Given the description of an element on the screen output the (x, y) to click on. 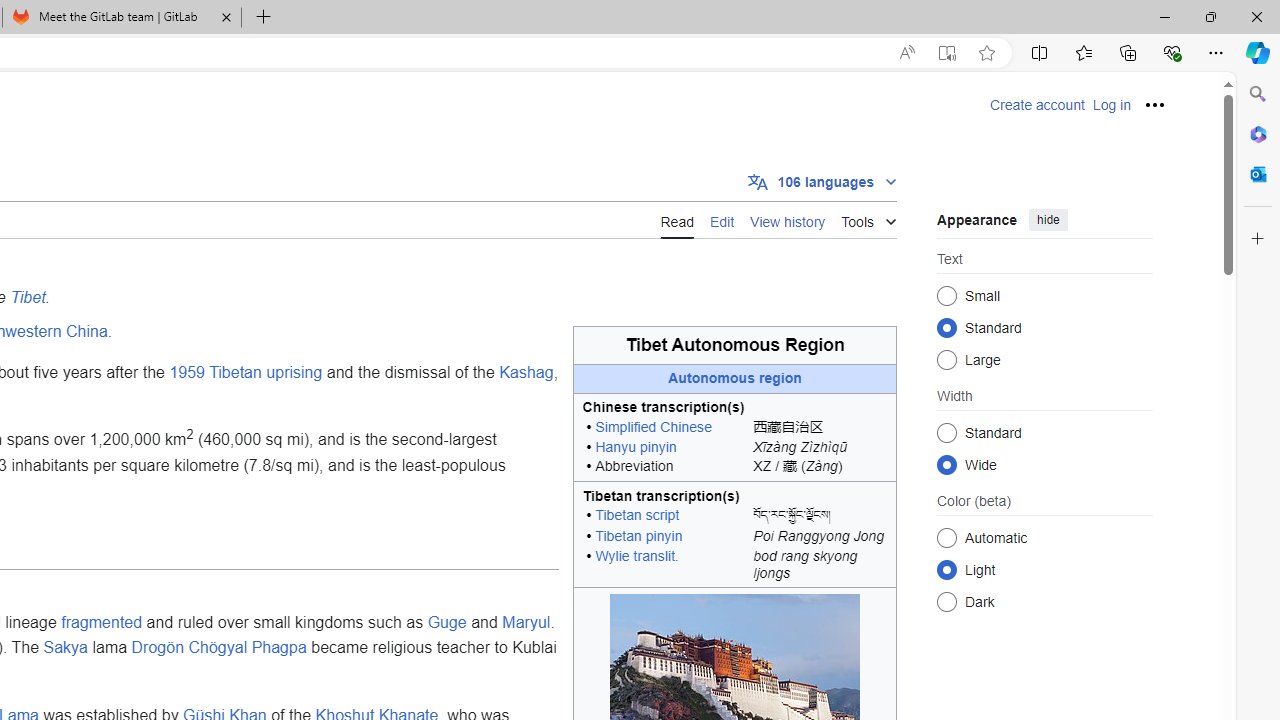
1959 Tibetan uprising (245, 373)
Class: mergedbottomrow (735, 567)
Log in (1111, 105)
Dark (946, 601)
Maryul (525, 621)
Class: mw-list-item mw-list-item-js (1044, 569)
Edit (721, 219)
Simplified Chinese (653, 427)
Kashag (526, 373)
hide (1048, 219)
